Given the description of an element on the screen output the (x, y) to click on. 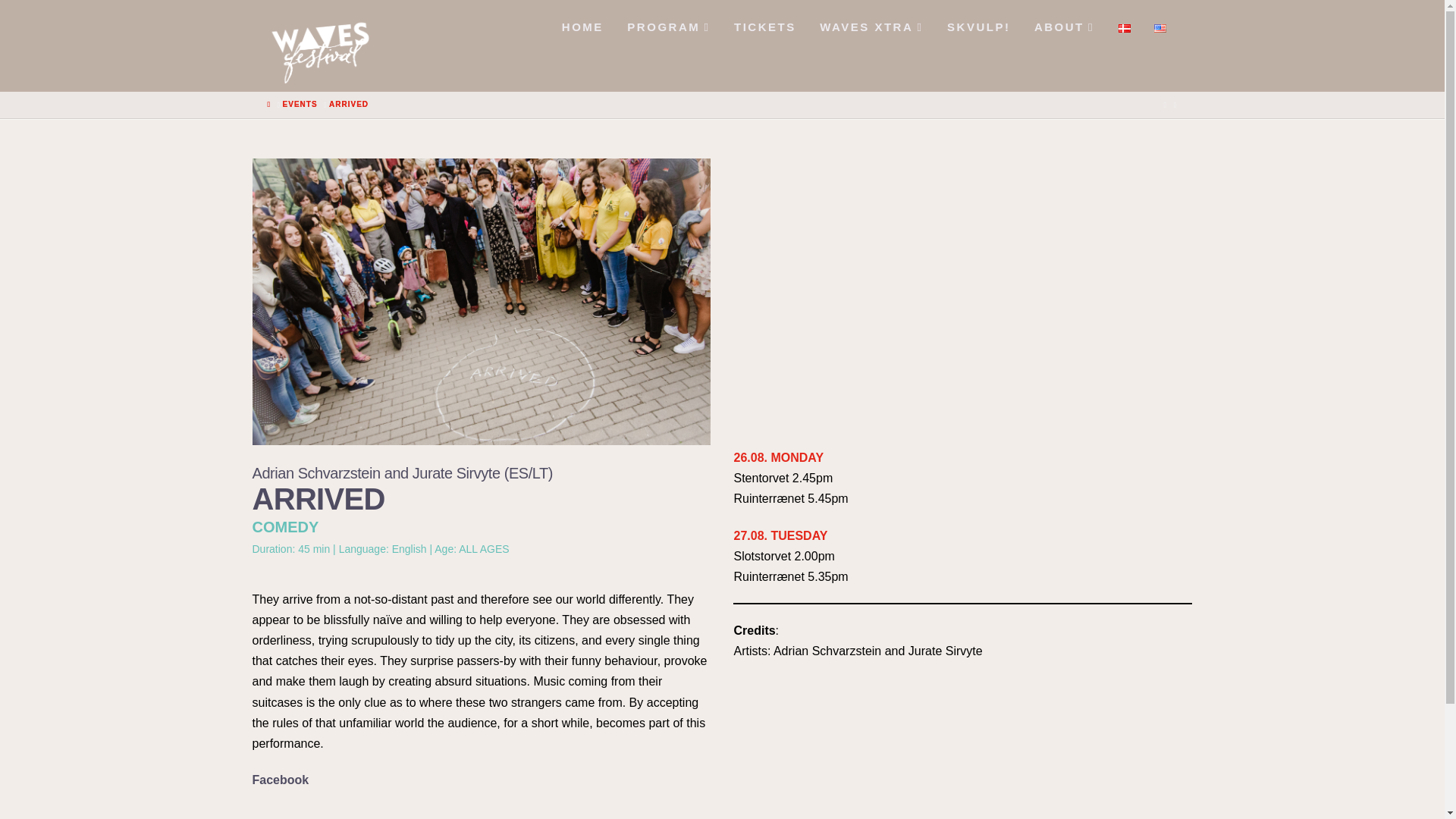
TICKETS (763, 22)
ABOUT (1063, 22)
You Are Here (348, 104)
SKVULP! (978, 22)
PROGRAM (667, 22)
WAVES XTRA (870, 22)
HOME (581, 22)
